Given the description of an element on the screen output the (x, y) to click on. 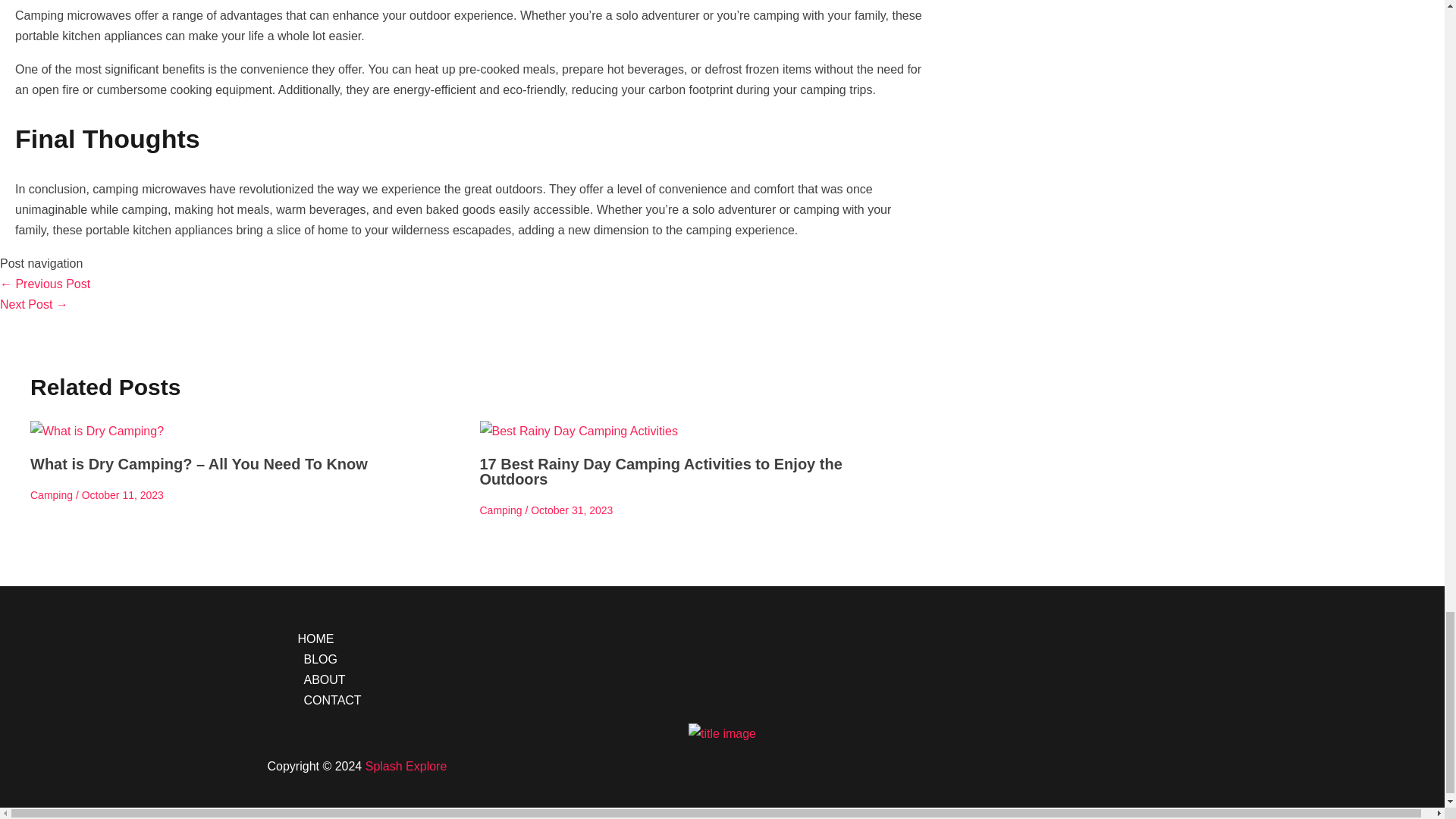
ABOUT (736, 679)
How Deep Are The Great Lakes (34, 304)
Camping (51, 494)
BLOG (736, 659)
14 Best Lakes in Washington: Washington's Natural Wonders (45, 283)
Camping (500, 510)
HOME (736, 638)
CONTACT (736, 700)
17 Best Rainy Day Camping Activities to Enjoy the Outdoors 9 (578, 430)
17 Best Rainy Day Camping Activities to Enjoy the Outdoors (660, 471)
